Given the description of an element on the screen output the (x, y) to click on. 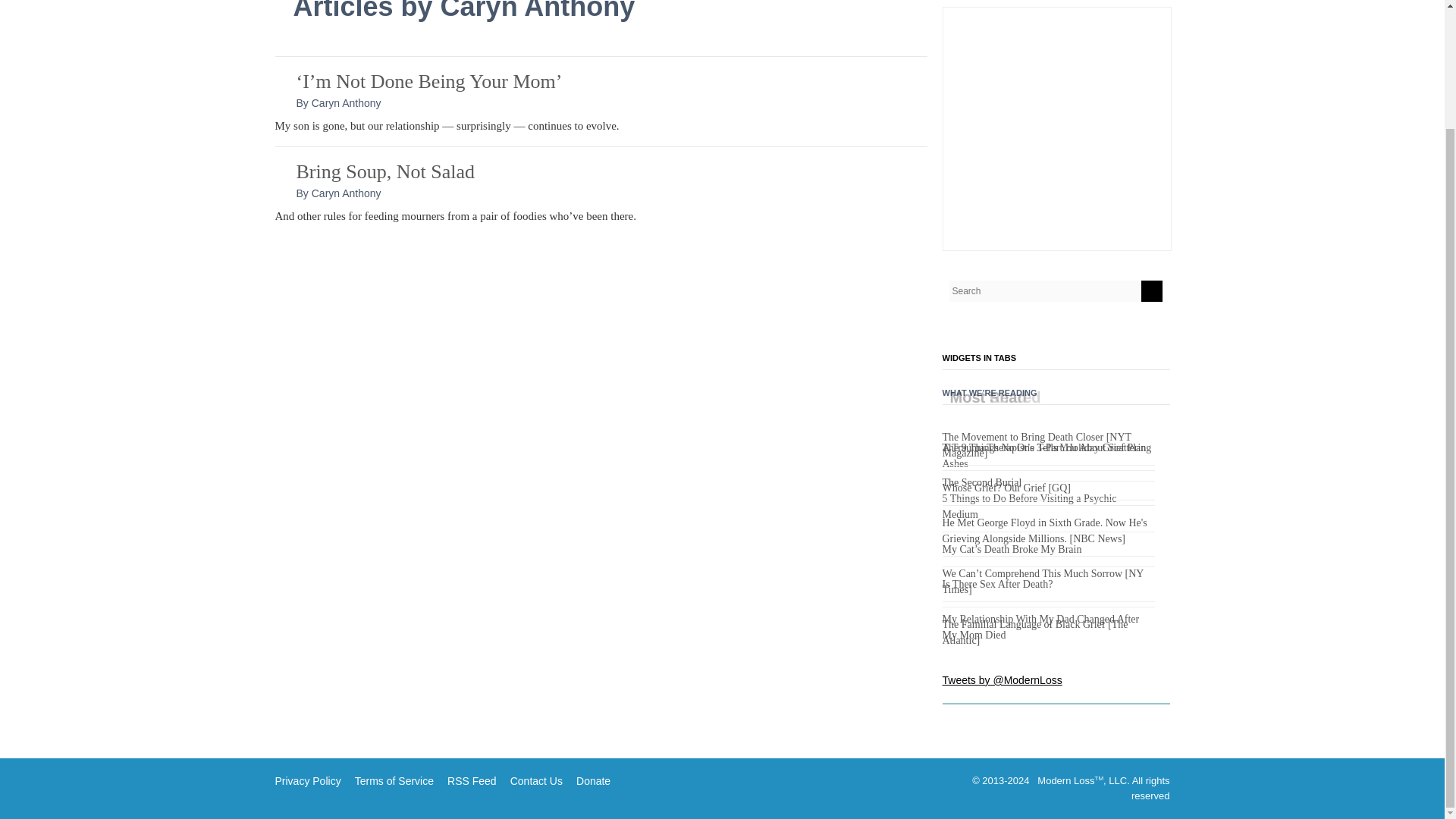
Posts by Caryn Anthony (346, 193)
Permalink to Bring Soup, Not Salad (384, 171)
Posts by Caryn Anthony (346, 102)
Search (1150, 291)
contact (536, 780)
